Given the description of an element on the screen output the (x, y) to click on. 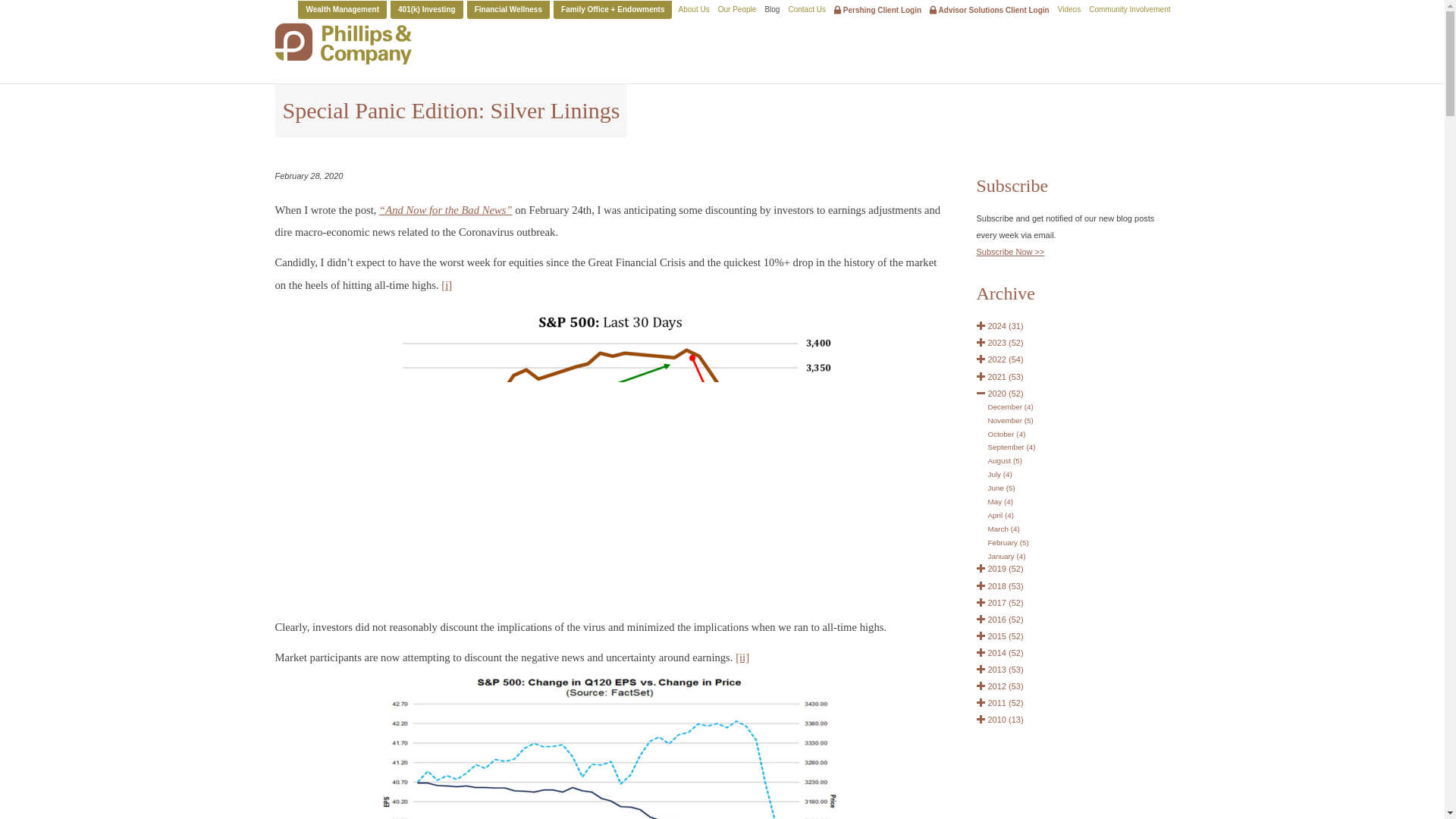
Our People (737, 9)
Videos (1069, 9)
Contact Us (806, 9)
Blog (771, 9)
Community Involvement (1129, 9)
Pershing Client Login (877, 9)
Advisor Solutions Client Login (989, 9)
Financial Wellness (508, 9)
Wealth Management (342, 9)
About Us (694, 9)
